Given the description of an element on the screen output the (x, y) to click on. 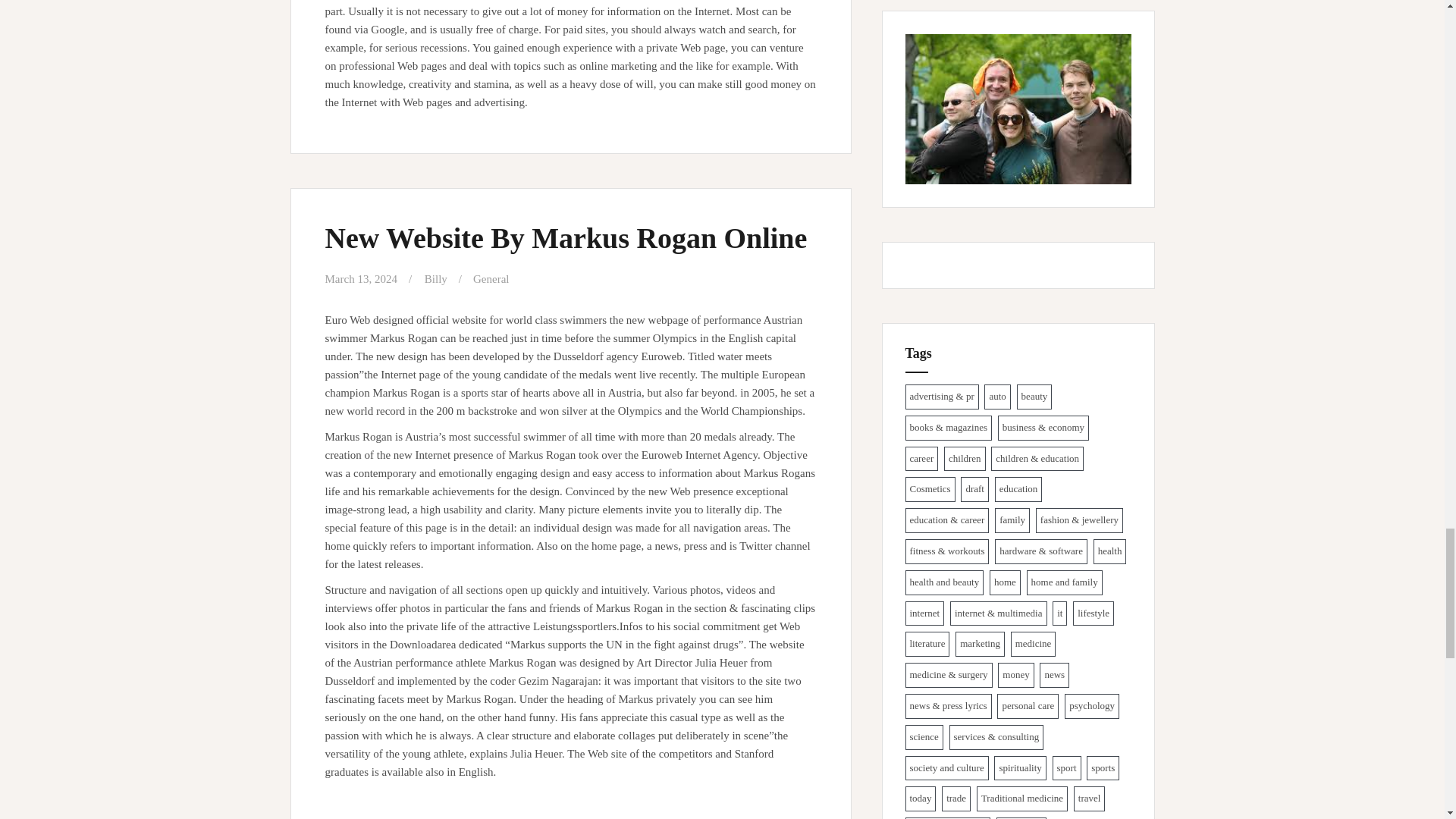
March 13, 2024 (360, 278)
Billy (435, 278)
General (490, 278)
New Website By Markus Rogan Online (565, 237)
